Given the description of an element on the screen output the (x, y) to click on. 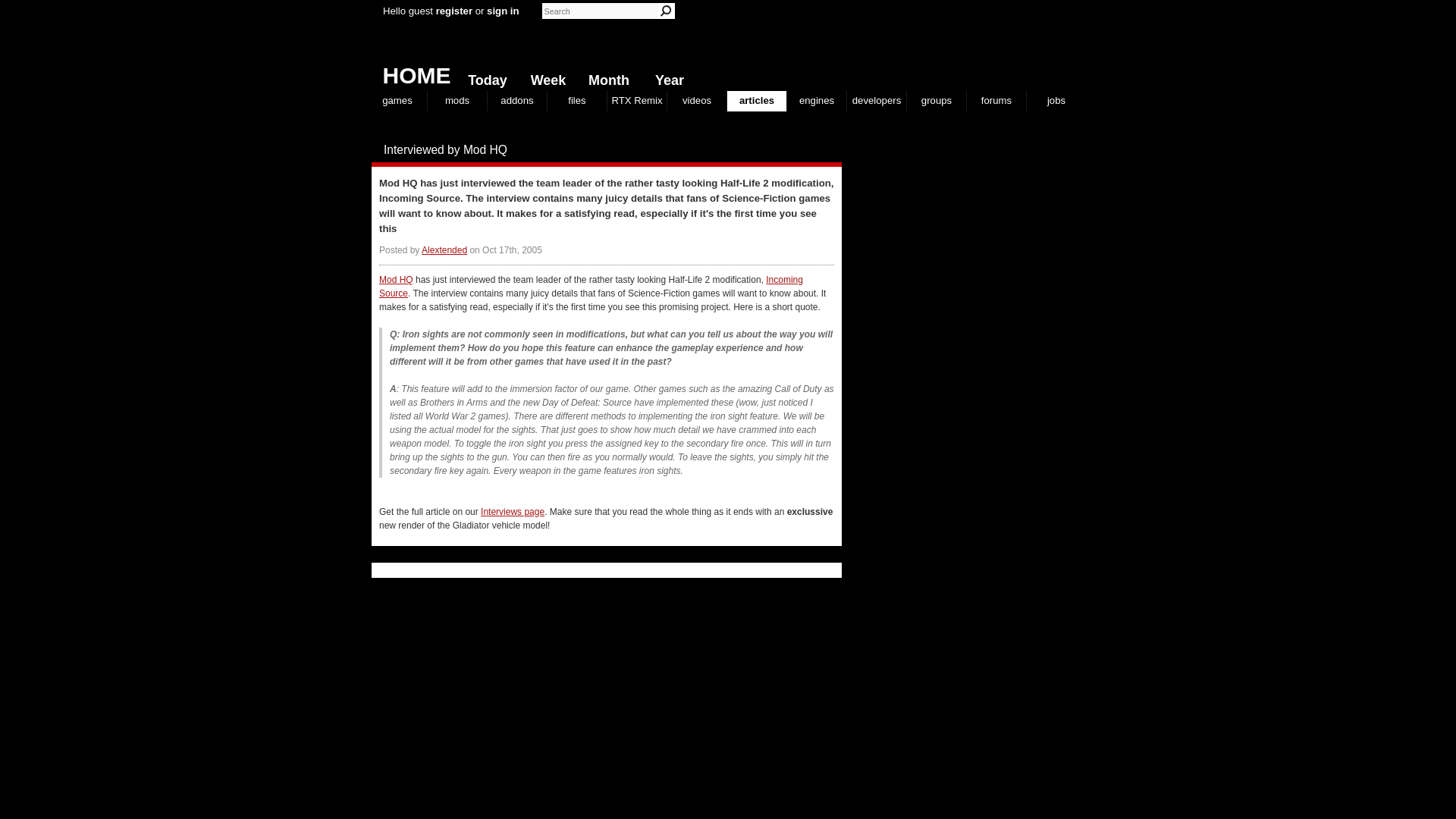
Month (605, 76)
videos (696, 100)
Today (483, 76)
New today (483, 76)
register (453, 10)
files (577, 100)
Search (666, 10)
mods (457, 100)
New this week (545, 76)
New this year (666, 76)
